Given the description of an element on the screen output the (x, y) to click on. 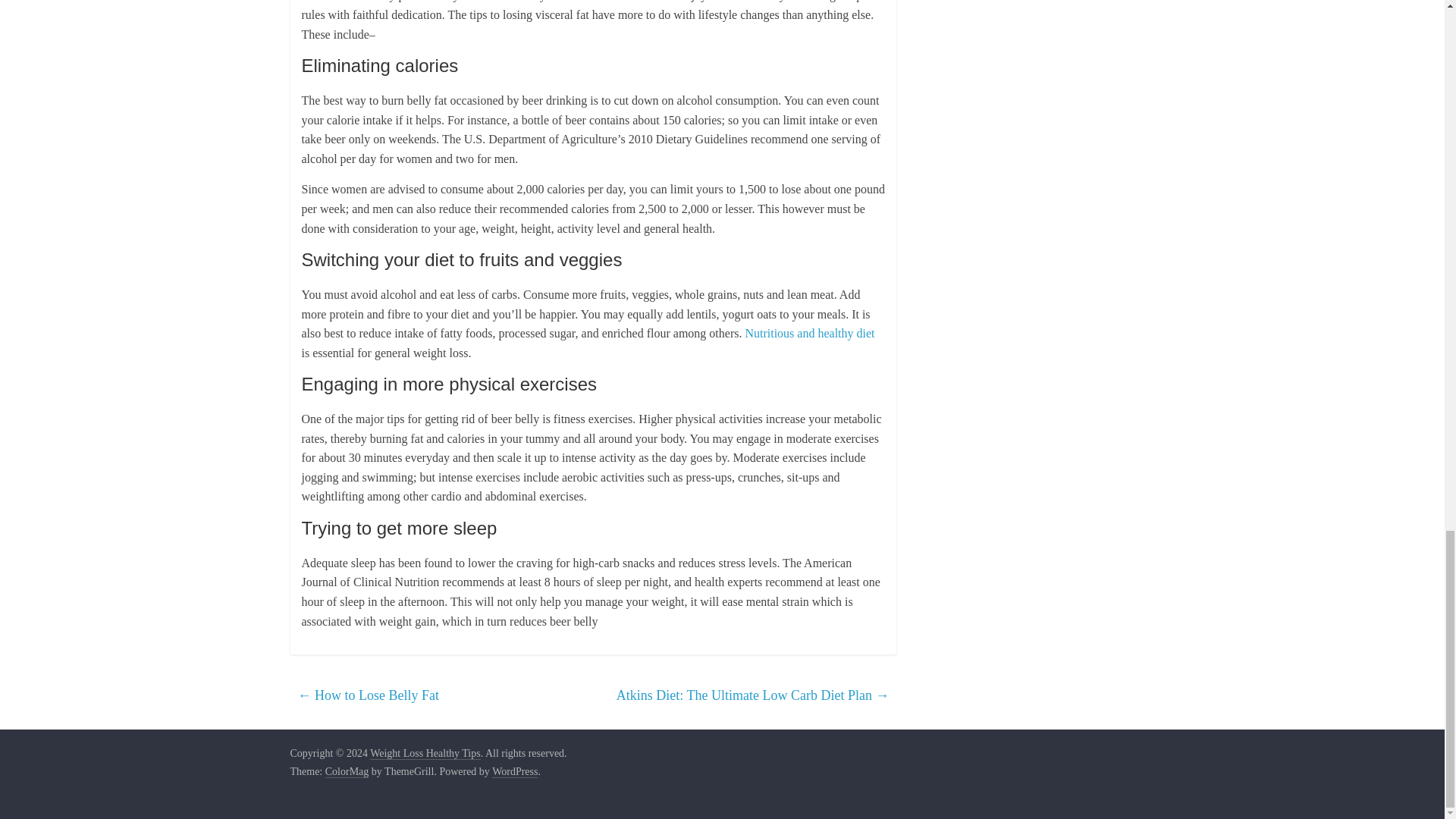
Weight Loss Healthy Tips (424, 753)
ColorMag (346, 771)
WordPress (514, 771)
Nutritious and healthy diet (809, 332)
